Given the description of an element on the screen output the (x, y) to click on. 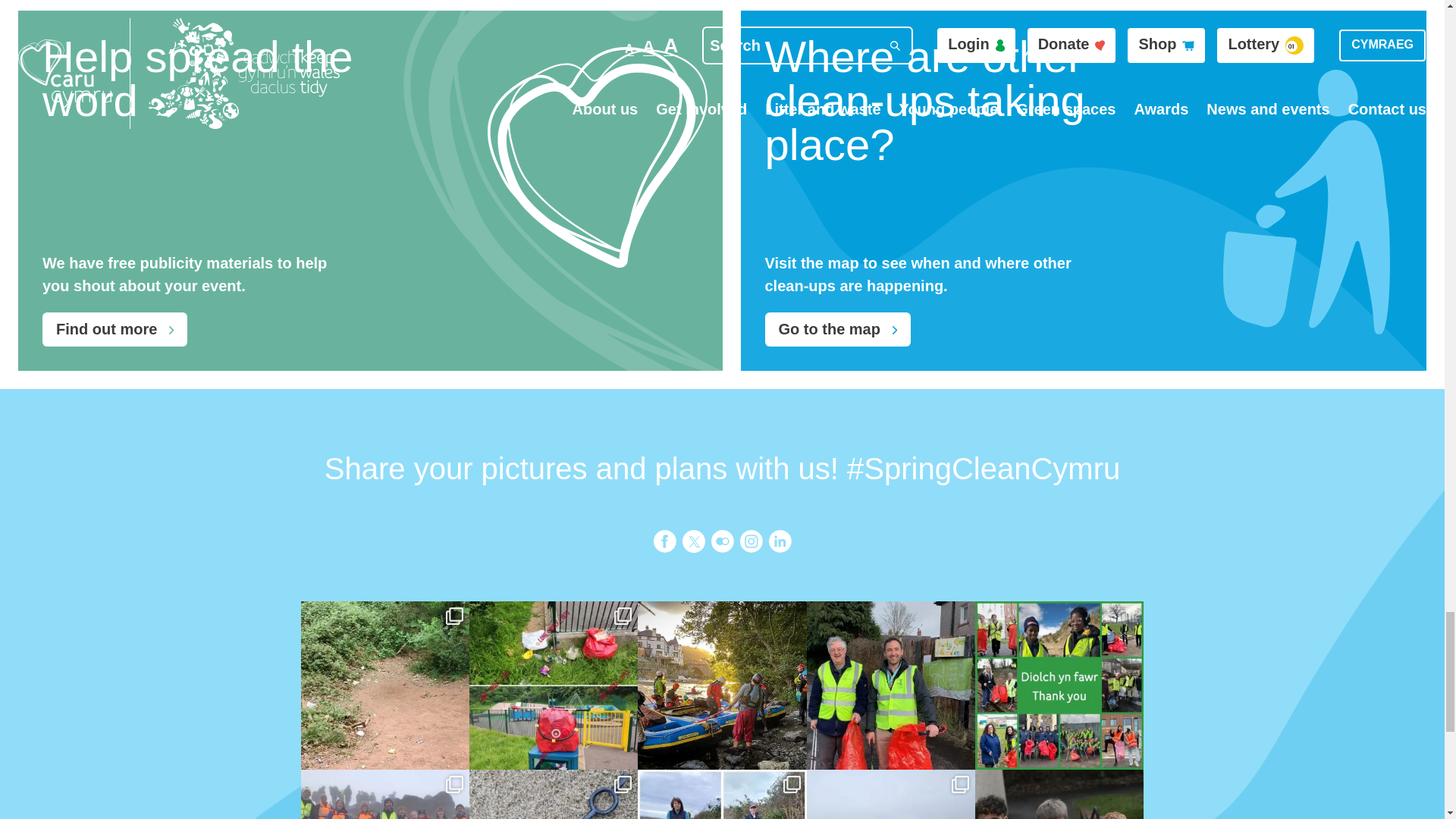
Twitter (693, 540)
LinkedIn (780, 540)
Instagram (750, 540)
Flickr (722, 540)
Facebook (665, 540)
